Given the description of an element on the screen output the (x, y) to click on. 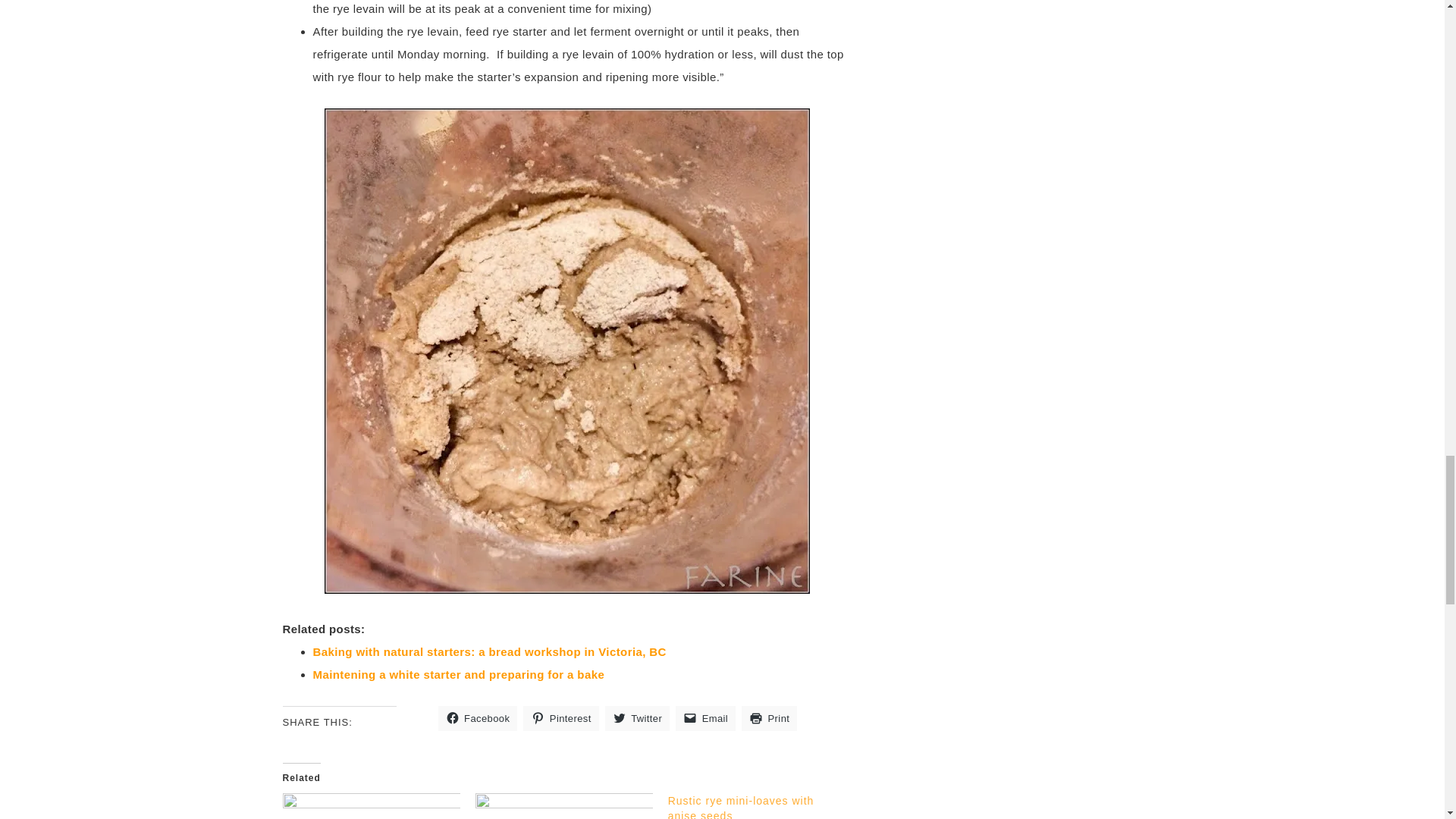
Click to share on Facebook (478, 718)
Twitter (637, 718)
Click to print (768, 718)
Click to share on Pinterest (560, 718)
Facebook (478, 718)
Click to share on Twitter (637, 718)
Click to email a link to a friend (705, 718)
Rustic rye mini-loaves with anise seeds (740, 806)
Rustic rye mini-loaves with anise seeds (740, 806)
Maintaining a white starter and preparing for a bake (564, 806)
Rustic rye mini-loaves with anise seeds (764, 806)
Maintening a white starter and preparing for a bake (458, 674)
Pinterest (560, 718)
